Given the description of an element on the screen output the (x, y) to click on. 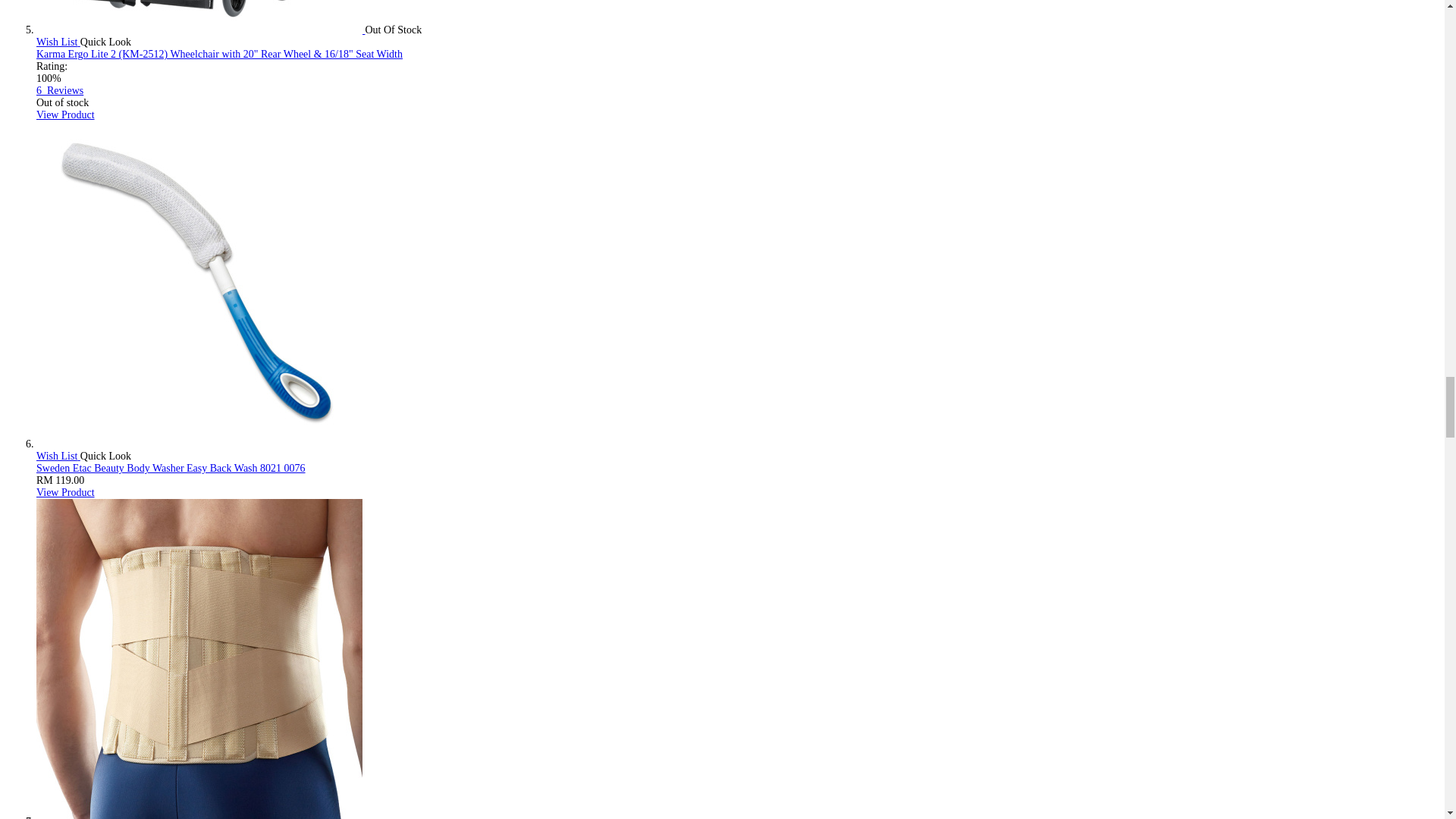
Wish List (58, 455)
Wish List (58, 41)
